Given the description of an element on the screen output the (x, y) to click on. 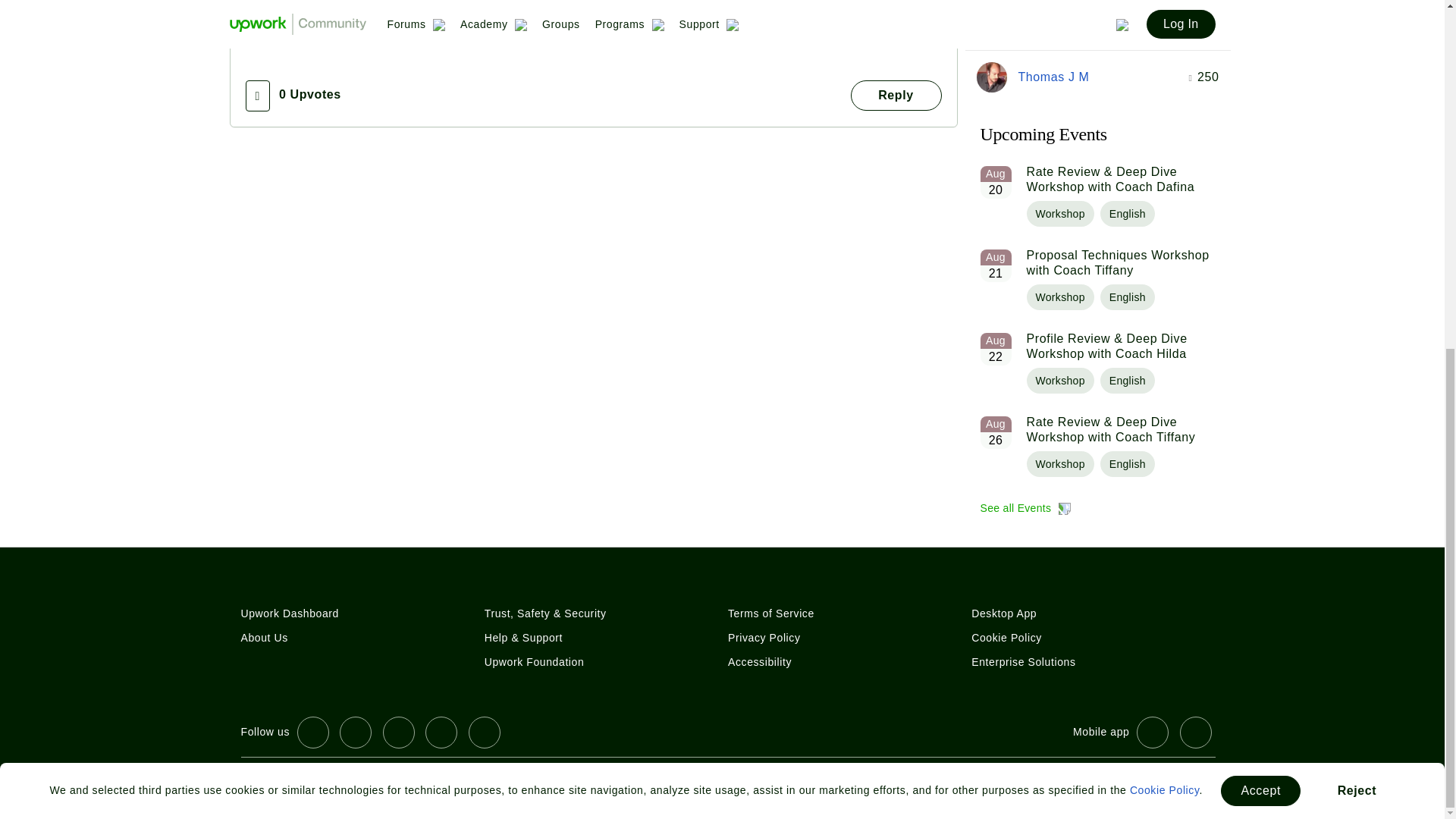
The total number of upvotes this post has received. (309, 94)
Reject (1356, 187)
Accept (1260, 187)
Cookie Policy (1164, 186)
